Given the description of an element on the screen output the (x, y) to click on. 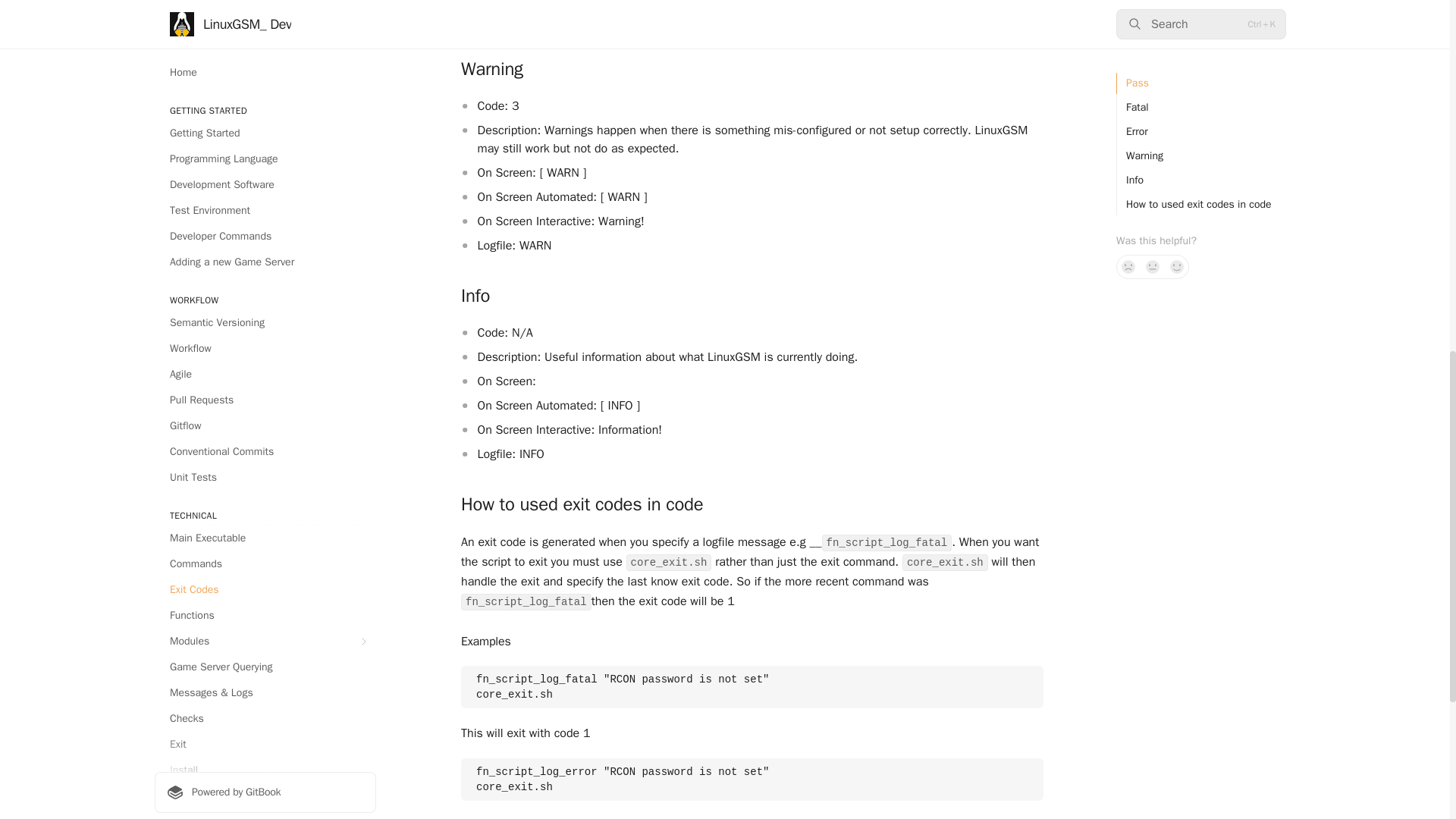
Style Guide (264, 37)
Shellcheck Linter (264, 63)
Text Editor Settings (264, 88)
